Given the description of an element on the screen output the (x, y) to click on. 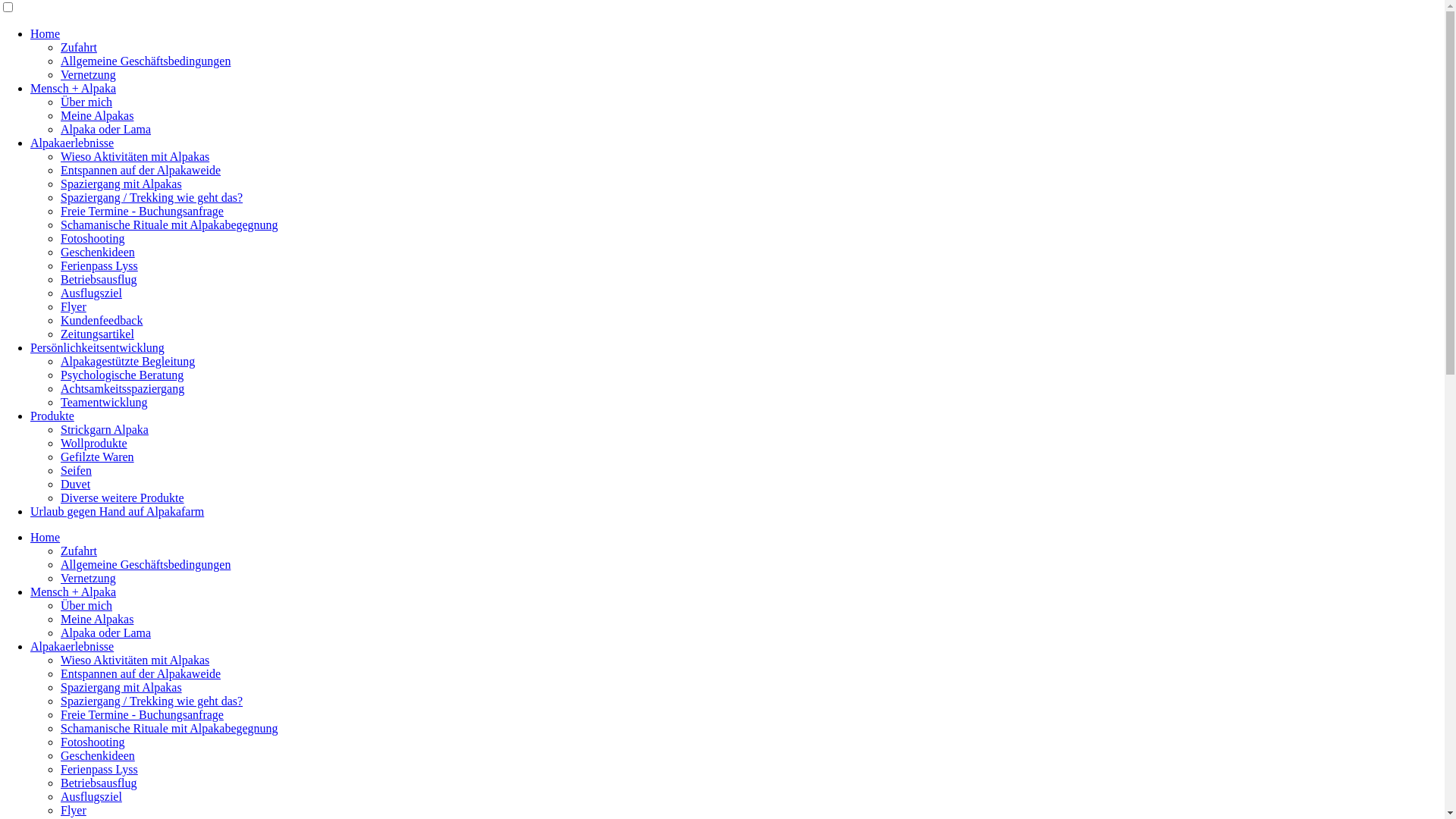
Geschenkideen Element type: text (97, 251)
Home Element type: text (44, 33)
Teamentwicklung Element type: text (103, 401)
Ferienpass Lyss Element type: text (99, 768)
Diverse weitere Produkte Element type: text (122, 497)
Alpaka oder Lama Element type: text (105, 632)
Betriebsausflug Element type: text (98, 782)
Psychologische Beratung Element type: text (121, 374)
Meine Alpakas Element type: text (96, 115)
Spaziergang mit Alpakas Element type: text (121, 686)
Alpakaerlebnisse Element type: text (71, 142)
Spaziergang / Trekking wie geht das? Element type: text (151, 197)
Ausflugsziel Element type: text (91, 796)
Spaziergang mit Alpakas Element type: text (121, 183)
Vernetzung Element type: text (88, 577)
Freie Termine - Buchungsanfrage Element type: text (141, 210)
Mensch + Alpaka Element type: text (73, 591)
Gefilzte Waren Element type: text (97, 456)
Schamanische Rituale mit Alpakabegegnung Element type: text (169, 224)
Alpakaerlebnisse Element type: text (71, 646)
Zufahrt Element type: text (78, 550)
Flyer Element type: text (73, 306)
Entspannen auf der Alpakaweide Element type: text (140, 169)
Freie Termine - Buchungsanfrage Element type: text (141, 714)
Ausflugsziel Element type: text (91, 292)
Ferienpass Lyss Element type: text (99, 265)
Alpaka oder Lama Element type: text (105, 128)
Mensch + Alpaka Element type: text (73, 87)
Betriebsausflug Element type: text (98, 279)
Zeitungsartikel Element type: text (97, 333)
Fotoshooting Element type: text (92, 741)
Kundenfeedback Element type: text (101, 319)
Seifen Element type: text (75, 470)
Zufahrt Element type: text (78, 46)
Home Element type: text (44, 536)
Achtsamkeitsspaziergang Element type: text (122, 388)
Meine Alpakas Element type: text (96, 618)
Flyer Element type: text (73, 809)
Wollprodukte Element type: text (93, 442)
Produkte Element type: text (52, 415)
Duvet Element type: text (75, 483)
Strickgarn Alpaka Element type: text (104, 429)
Fotoshooting Element type: text (92, 238)
Schamanische Rituale mit Alpakabegegnung Element type: text (169, 727)
Urlaub gegen Hand auf Alpakafarm Element type: text (116, 511)
Geschenkideen Element type: text (97, 755)
Entspannen auf der Alpakaweide Element type: text (140, 673)
Spaziergang / Trekking wie geht das? Element type: text (151, 700)
Vernetzung Element type: text (88, 74)
